Given the description of an element on the screen output the (x, y) to click on. 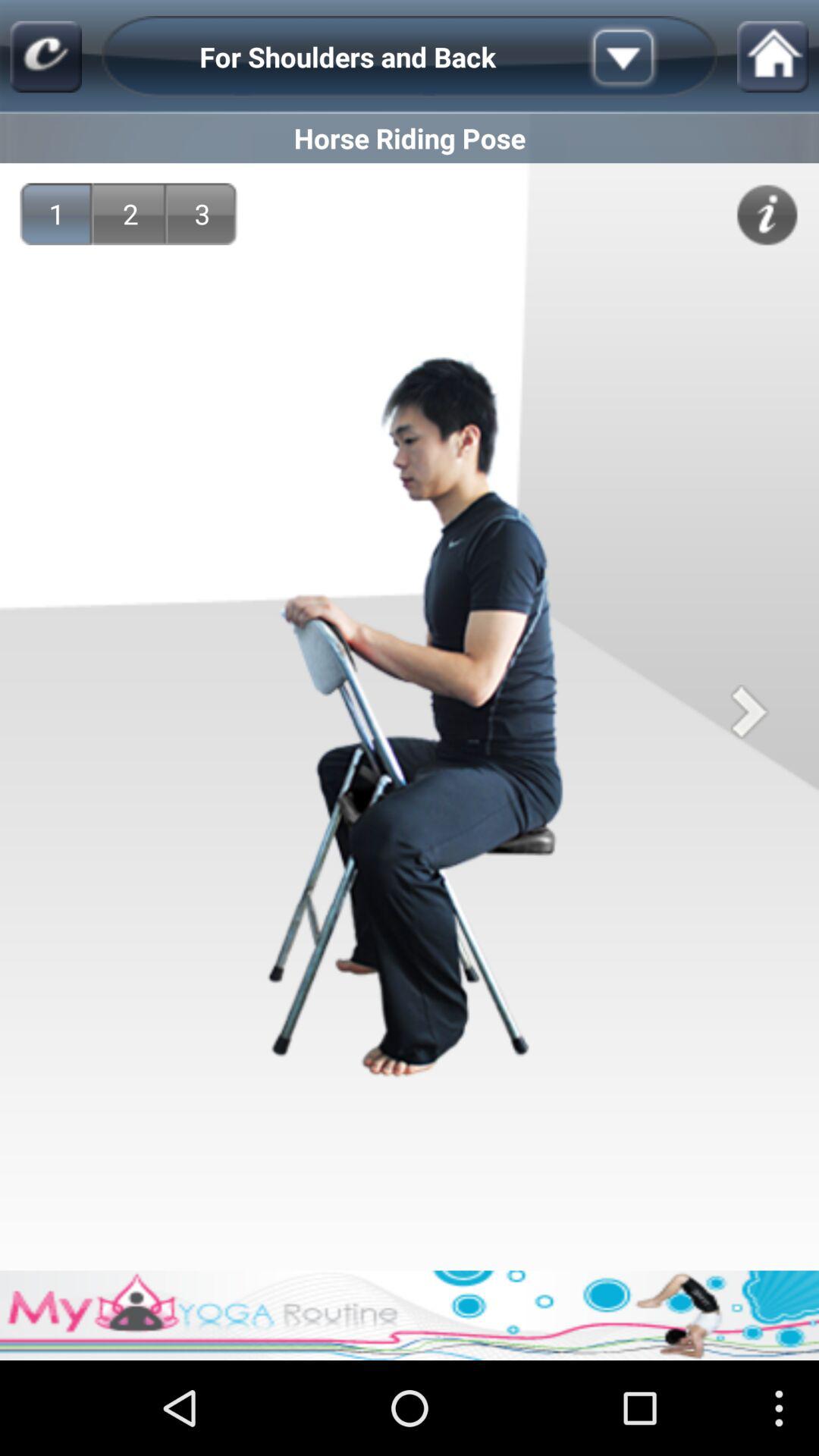
press item to the right of the 1 item (130, 214)
